Given the description of an element on the screen output the (x, y) to click on. 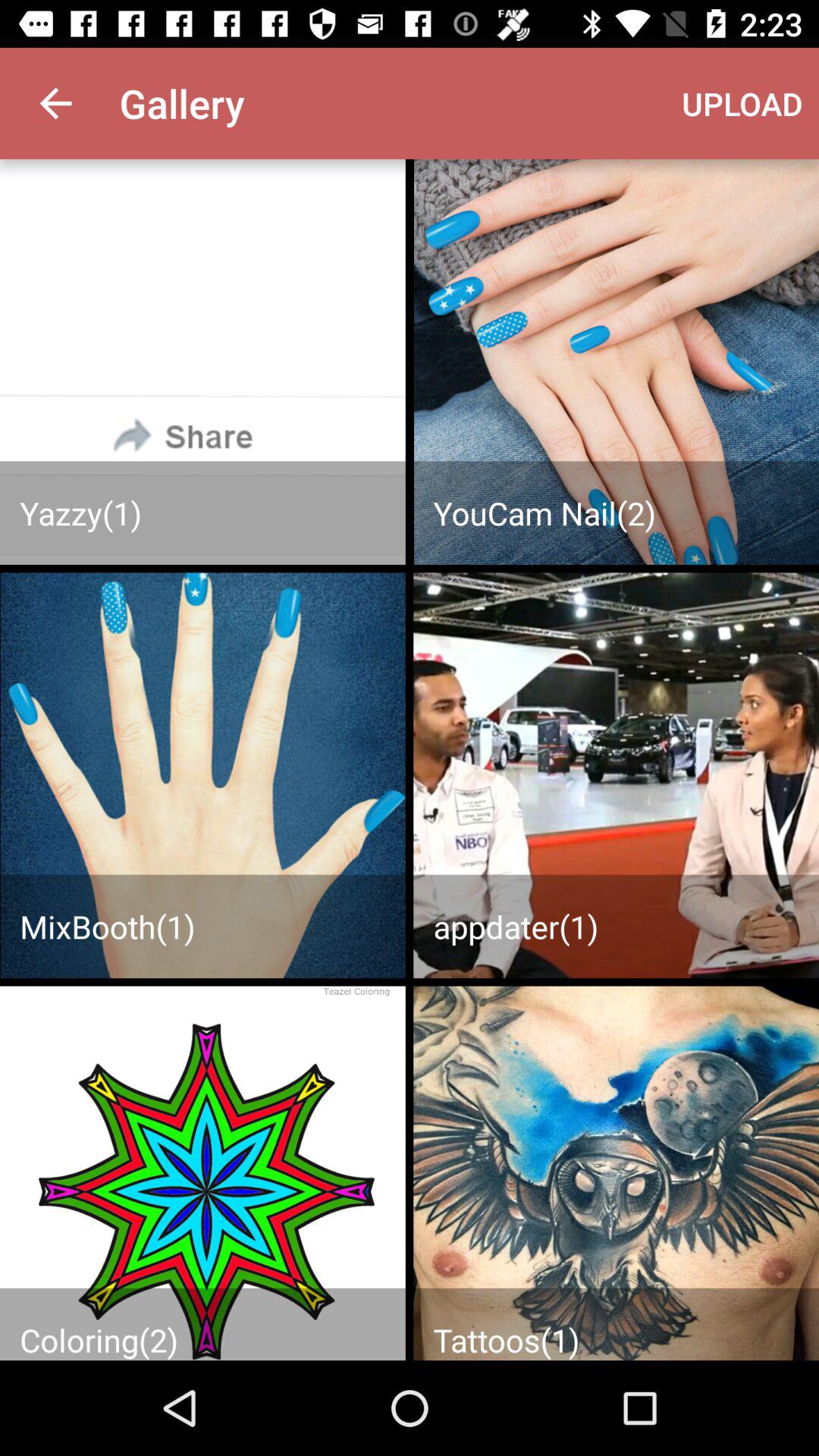
view album (616, 1173)
